Given the description of an element on the screen output the (x, y) to click on. 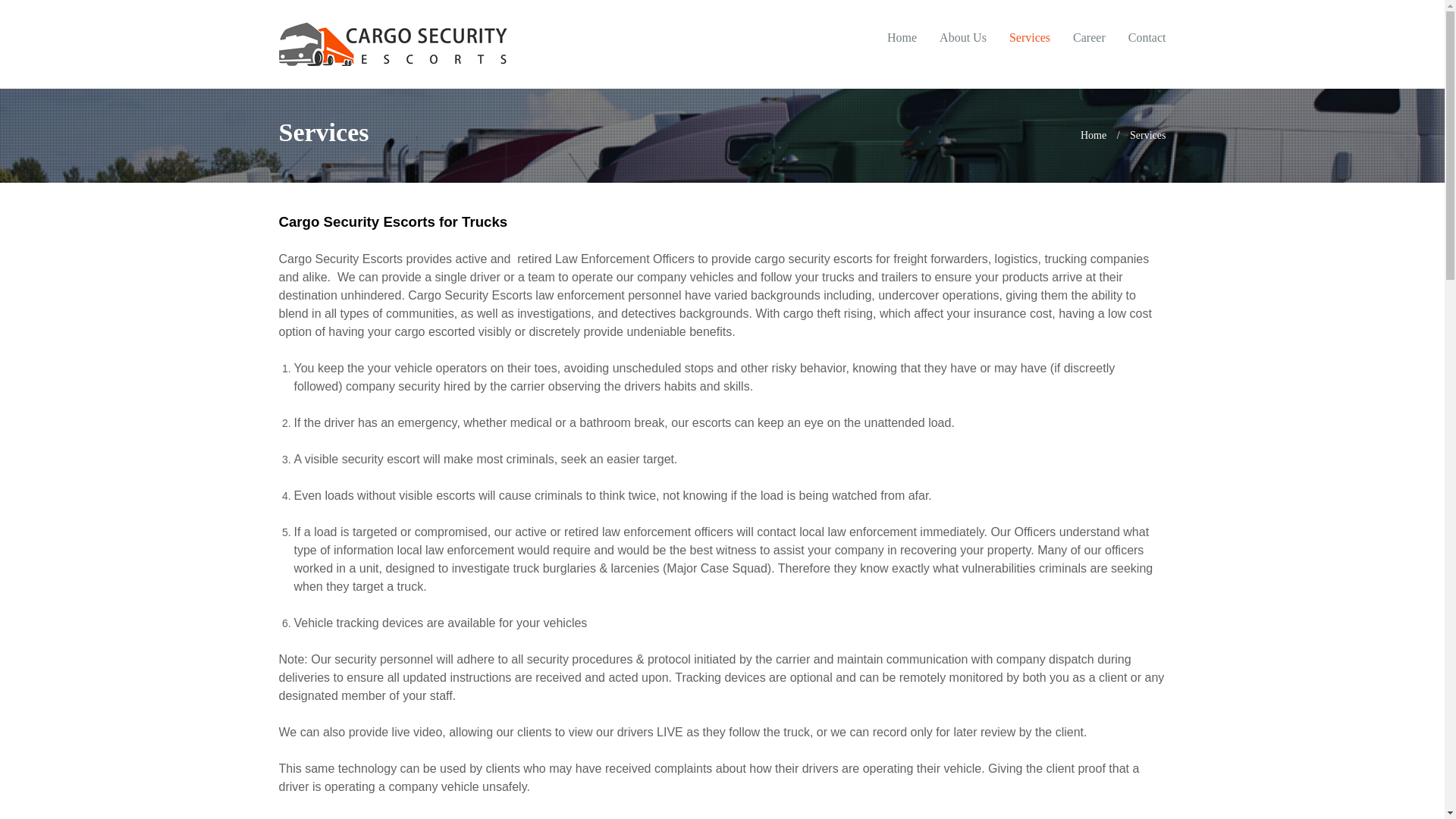
Contact (1147, 37)
Home (901, 37)
About Us (963, 37)
Services (1029, 37)
Career (1089, 37)
Home (1096, 134)
